Given the description of an element on the screen output the (x, y) to click on. 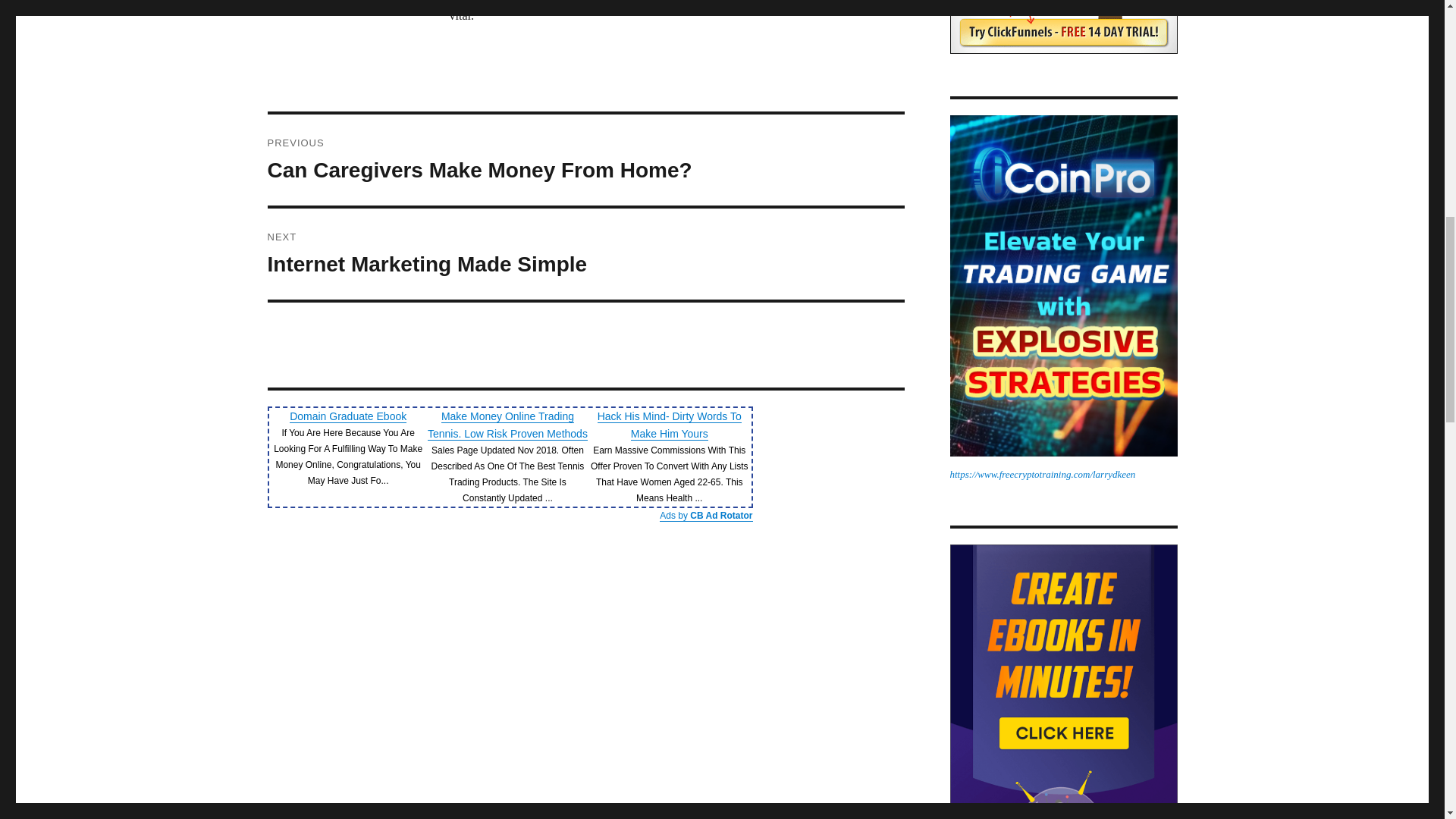
Hack His Mind- Dirty Words To Make Him Yours (668, 424)
Make Money Online Trading Tennis. Low Risk Proven Methods (508, 424)
Domain Graduate Ebook (585, 159)
Ads by CB Ad Rotator (585, 253)
